Given the description of an element on the screen output the (x, y) to click on. 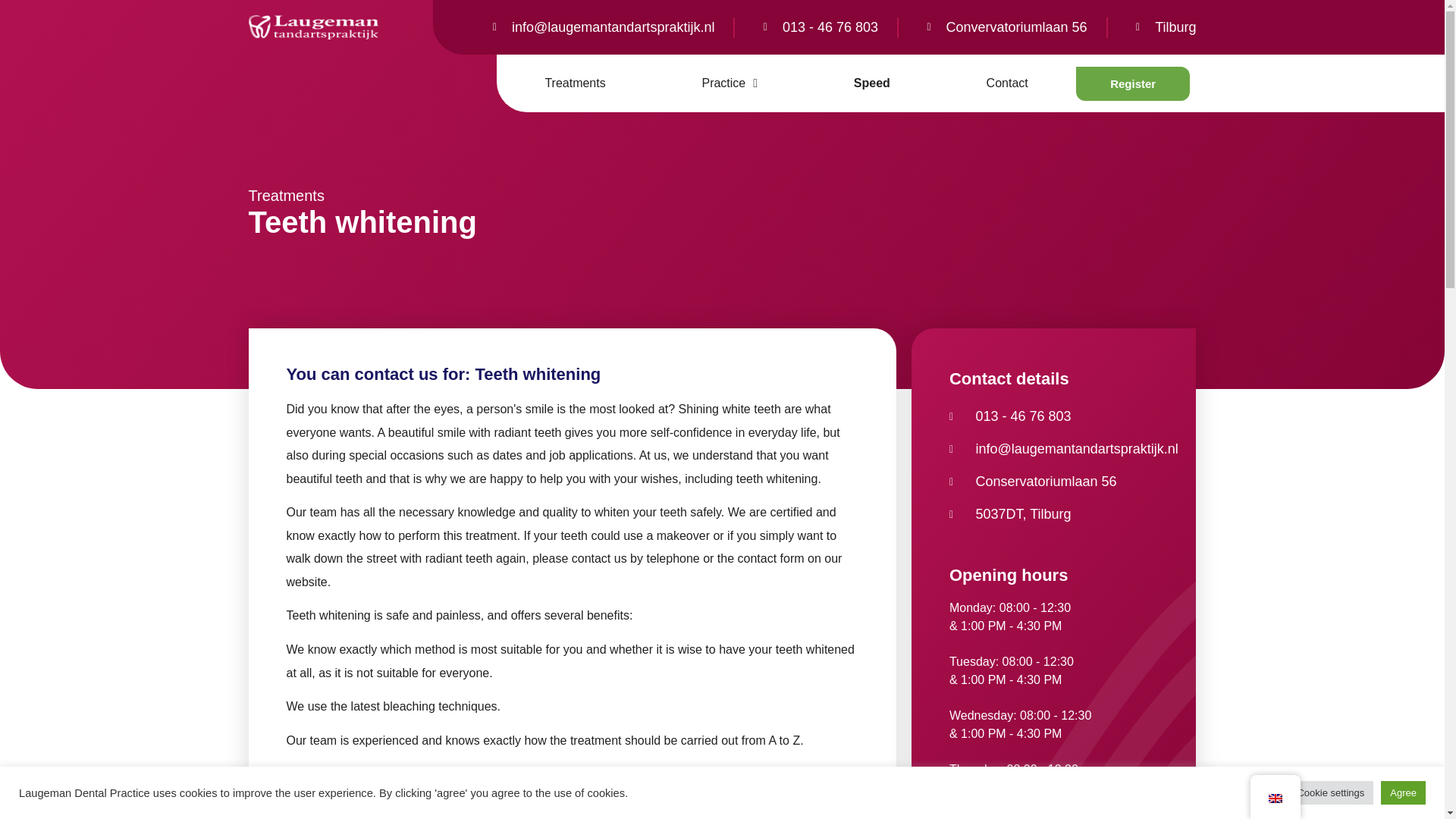
Contact (1006, 83)
English (1274, 798)
013 - 46 76 803 (815, 27)
Practice (729, 83)
013 - 46 76 803 (1053, 416)
Speed (871, 83)
Treatments (574, 83)
Register (1132, 83)
Treatments (286, 195)
